Given the description of an element on the screen output the (x, y) to click on. 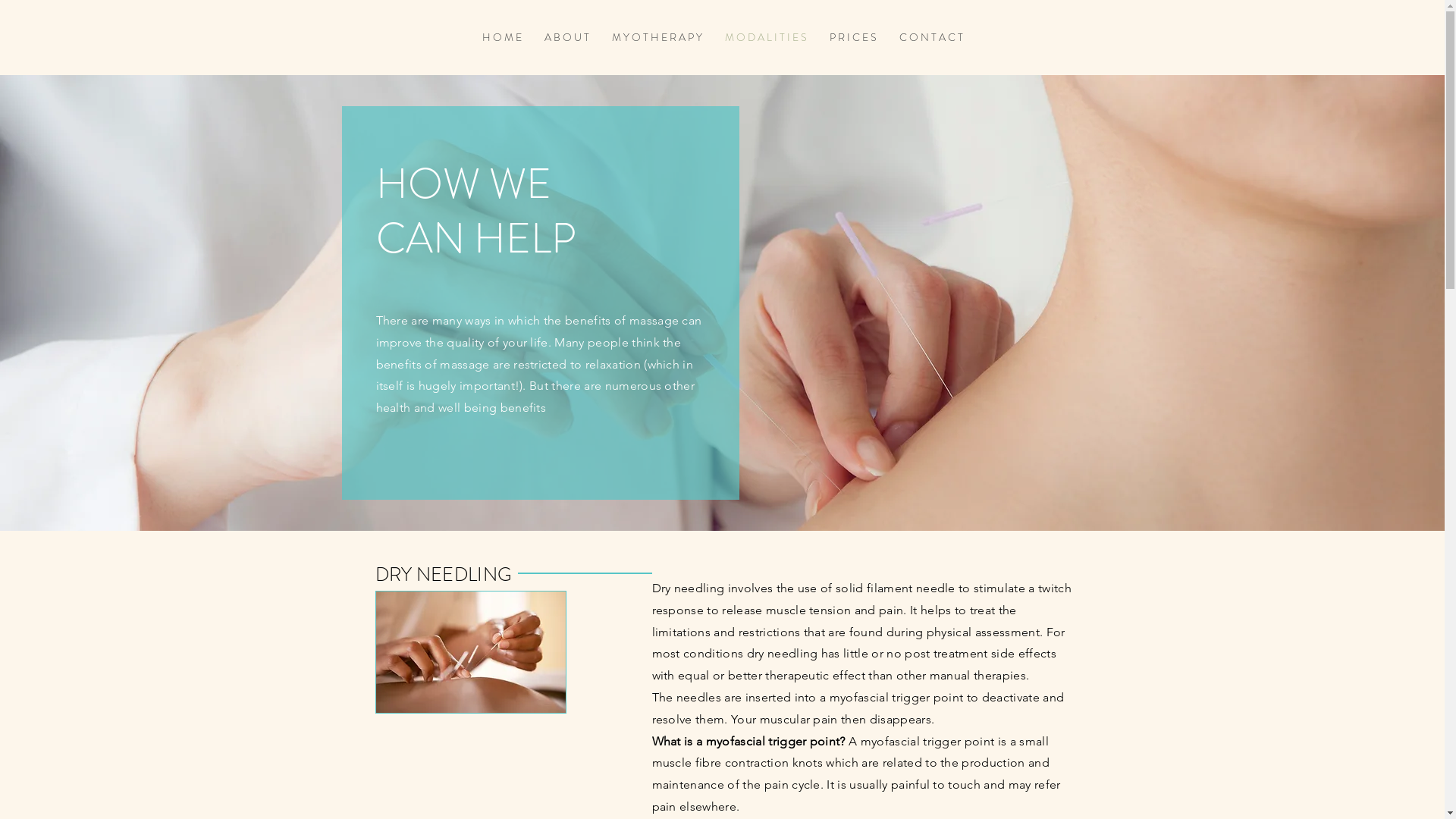
P R I C E S Element type: text (852, 37)
A B O U T Element type: text (565, 37)
M Y O T H E R A P Y Element type: text (656, 37)
C O N T A C T Element type: text (930, 37)
M O D A L I T I E S Element type: text (764, 37)
H O M E Element type: text (501, 37)
